Given the description of an element on the screen output the (x, y) to click on. 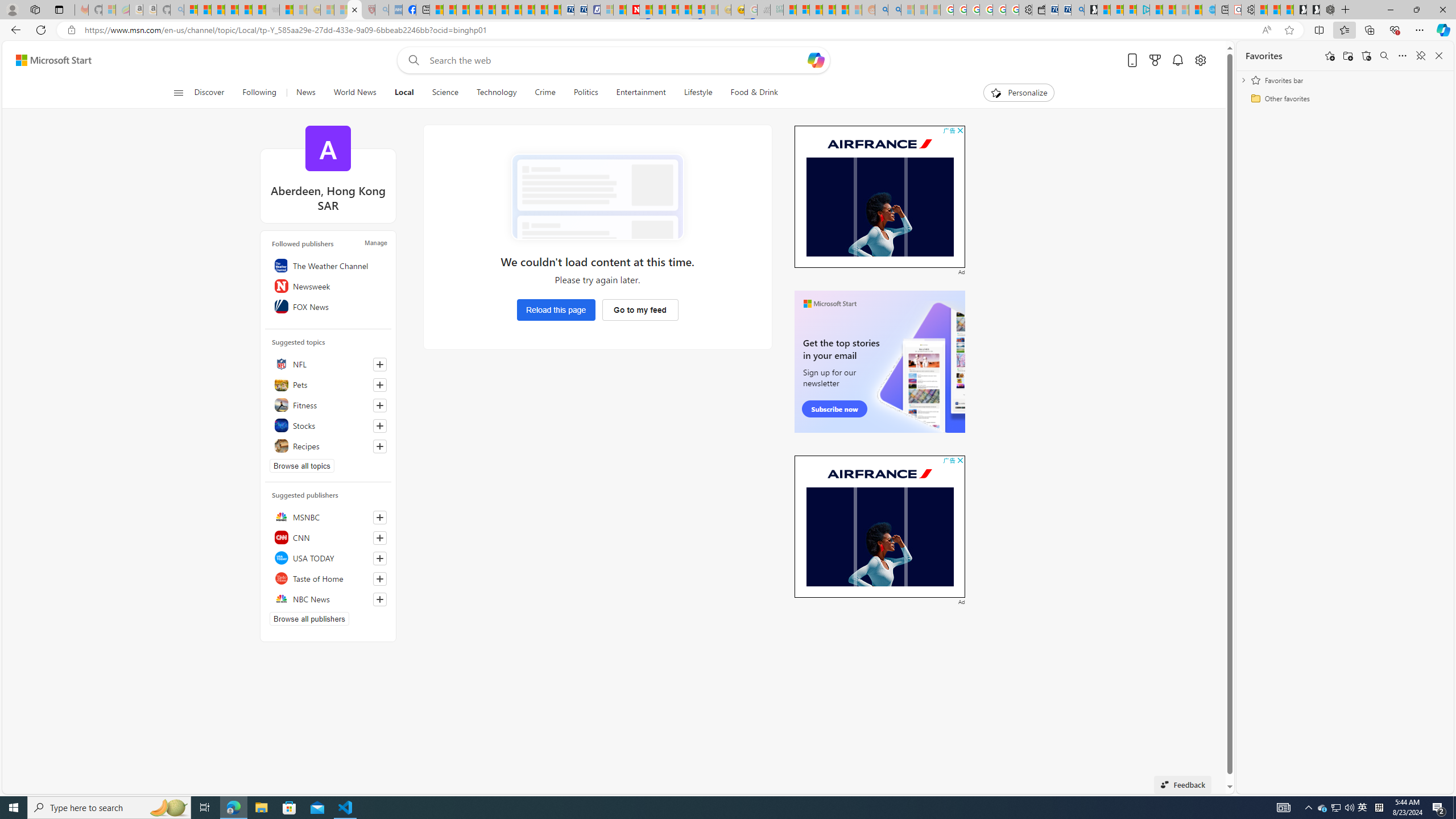
NFL (327, 363)
Personalize (1019, 92)
Climate Damage Becomes Too Severe To Reverse (475, 9)
Stocks (327, 425)
Follow this topic (379, 446)
Fitness (327, 404)
